Given the description of an element on the screen output the (x, y) to click on. 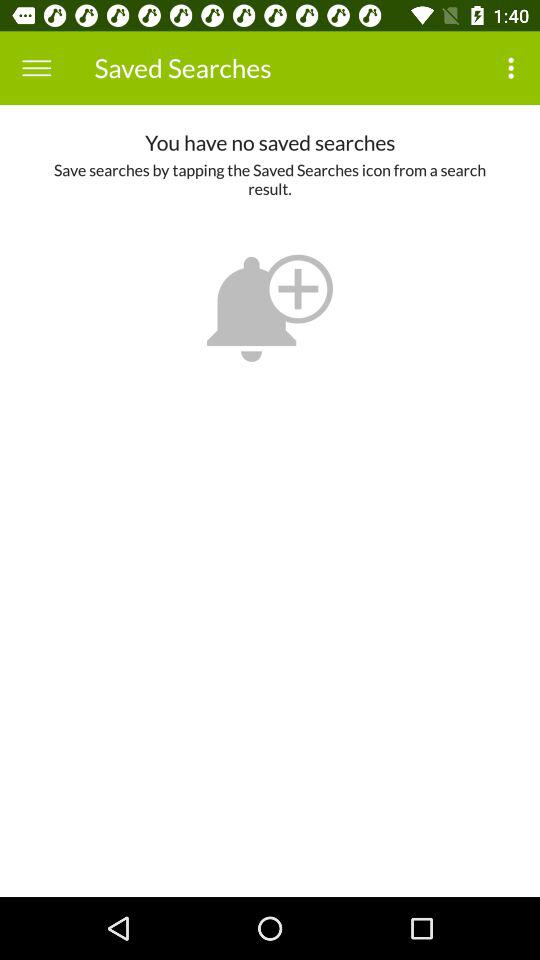
select the icon to the left of saved searches (36, 68)
